Given the description of an element on the screen output the (x, y) to click on. 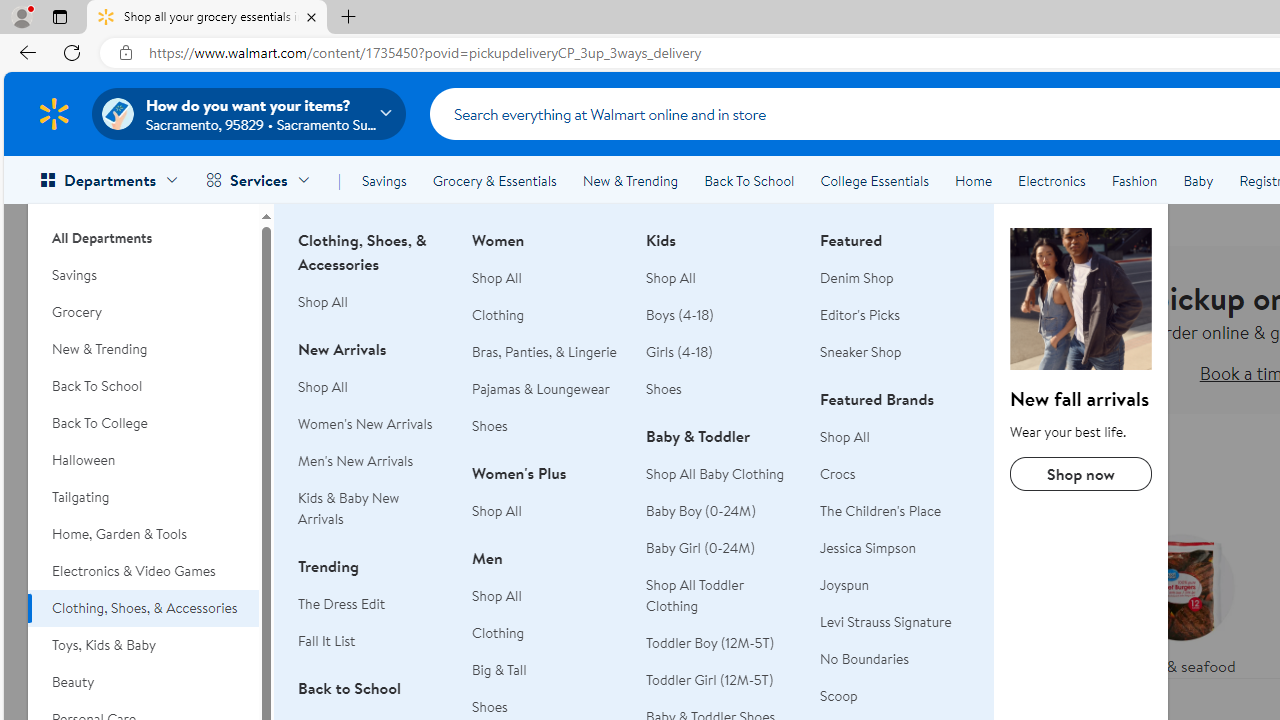
Baby (1197, 180)
College Essentials (874, 180)
Savings (143, 275)
Meat & seafood (1180, 599)
Tailgating (143, 497)
Shop all your grocery essentials in one place! - Walmart.com (207, 17)
Electronics (1051, 180)
Shop now (1080, 474)
Home, Garden & Tools (143, 534)
Electronics (1051, 180)
Toddler Girl (12M-5T) (710, 679)
Meat & seafood (1180, 599)
Girls (4-18) (679, 352)
The Children's Place (881, 511)
New & Trending (630, 180)
